Given the description of an element on the screen output the (x, y) to click on. 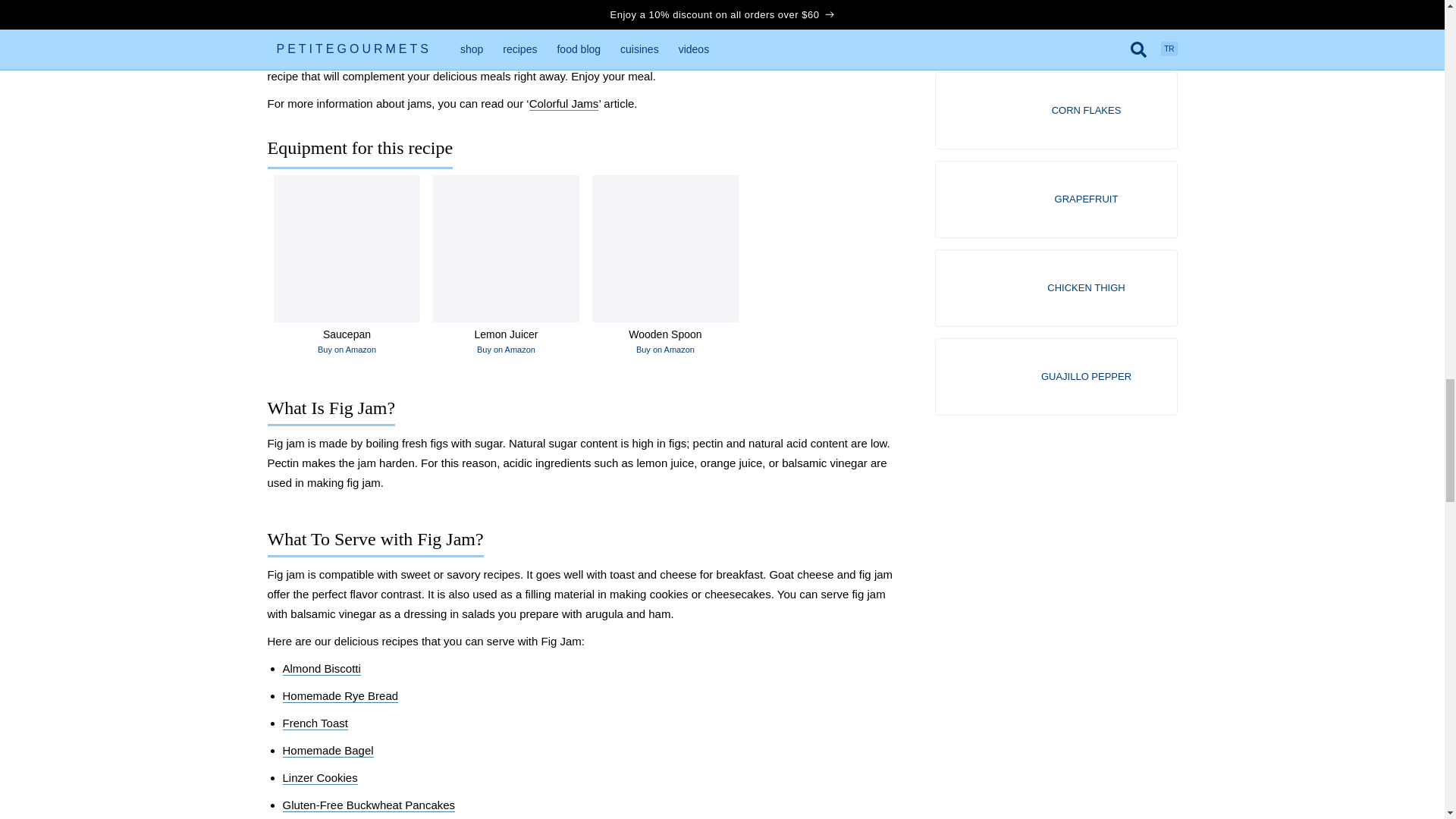
Buy on Amazon (665, 348)
breakfast (712, 9)
Homemade Bagel (327, 750)
Linzer Cookies (319, 777)
Almond Biscotti (320, 668)
Buy on Amazon (346, 348)
French Toast (314, 723)
Gluten-Free Buckwheat Pancakes (368, 805)
Colorful Jams (563, 103)
Homemade Rye Bread (339, 695)
